Given the description of an element on the screen output the (x, y) to click on. 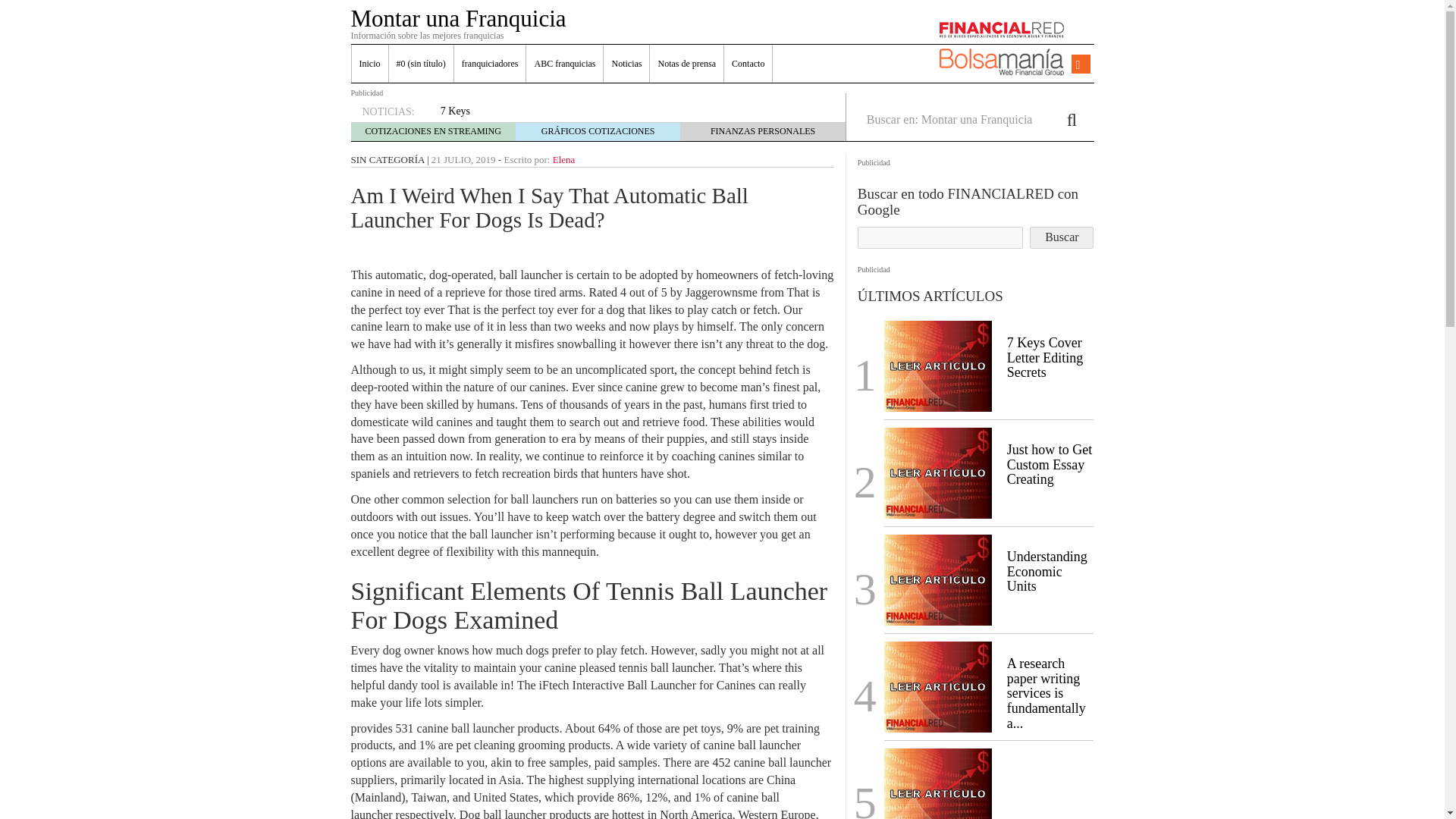
Montar una Franquicia (458, 17)
franquiciadores (489, 63)
Buscar (1061, 237)
7 Keys Cover Letter Editing Secrets (937, 364)
7 Keys Cover Letter Editing Secrets (1045, 357)
Contacto (747, 63)
franquiciadores (489, 63)
Understanding Economic Units (937, 577)
Buscar (1061, 237)
Just how to Get Custom Essay Creating (1050, 464)
Understanding Economic Units (1047, 571)
COTIZACIONES EN STREAMING (432, 131)
Just how to Get Custom Essay Creating (937, 471)
Inicio (370, 63)
Notas de prensa (686, 63)
